Given the description of an element on the screen output the (x, y) to click on. 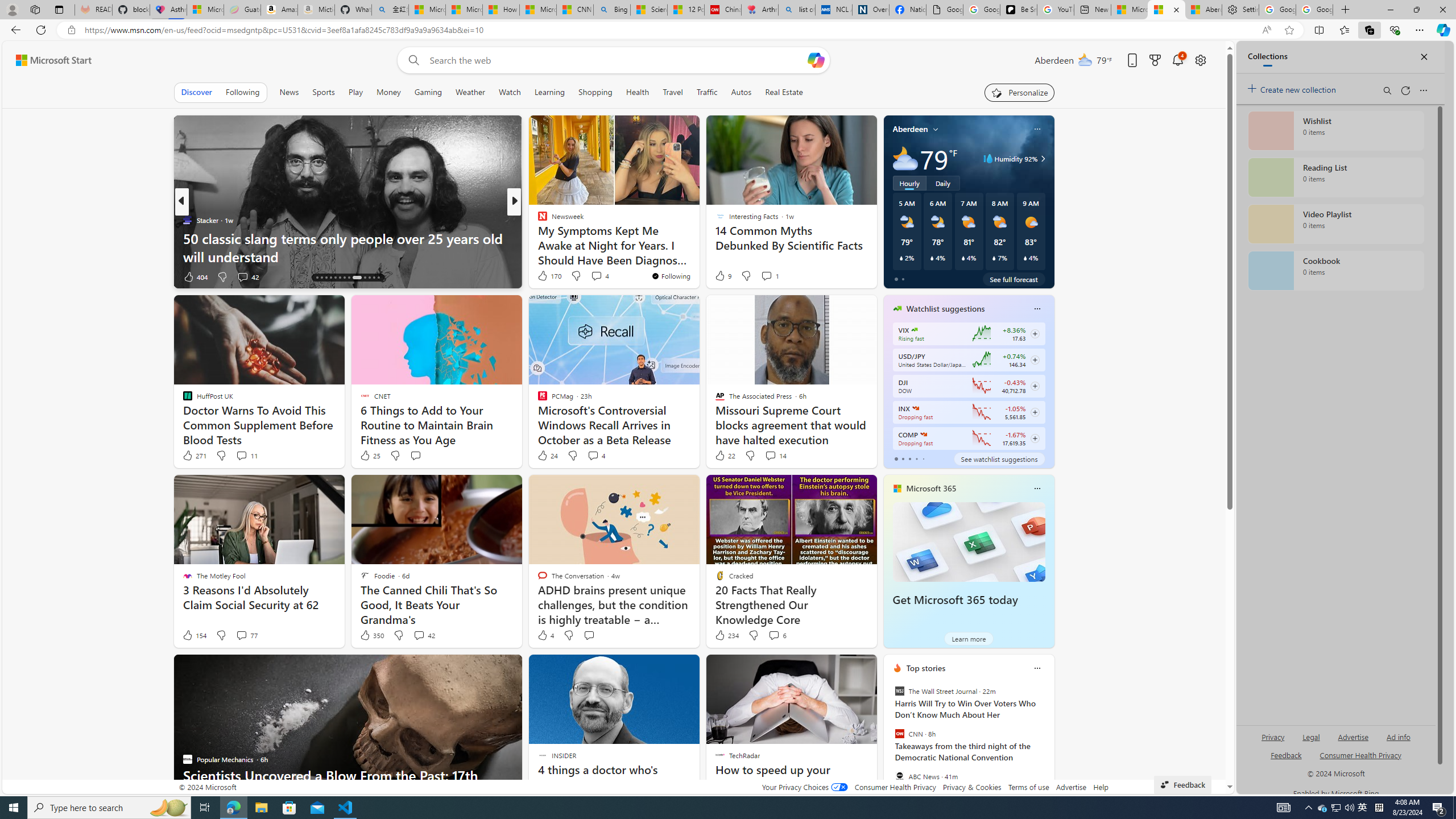
AutomationID: tab-20 (344, 277)
View comments 42 Comment (419, 635)
AutomationID: tab-25 (374, 277)
View comments 231 Comment (595, 276)
